Given the description of an element on the screen output the (x, y) to click on. 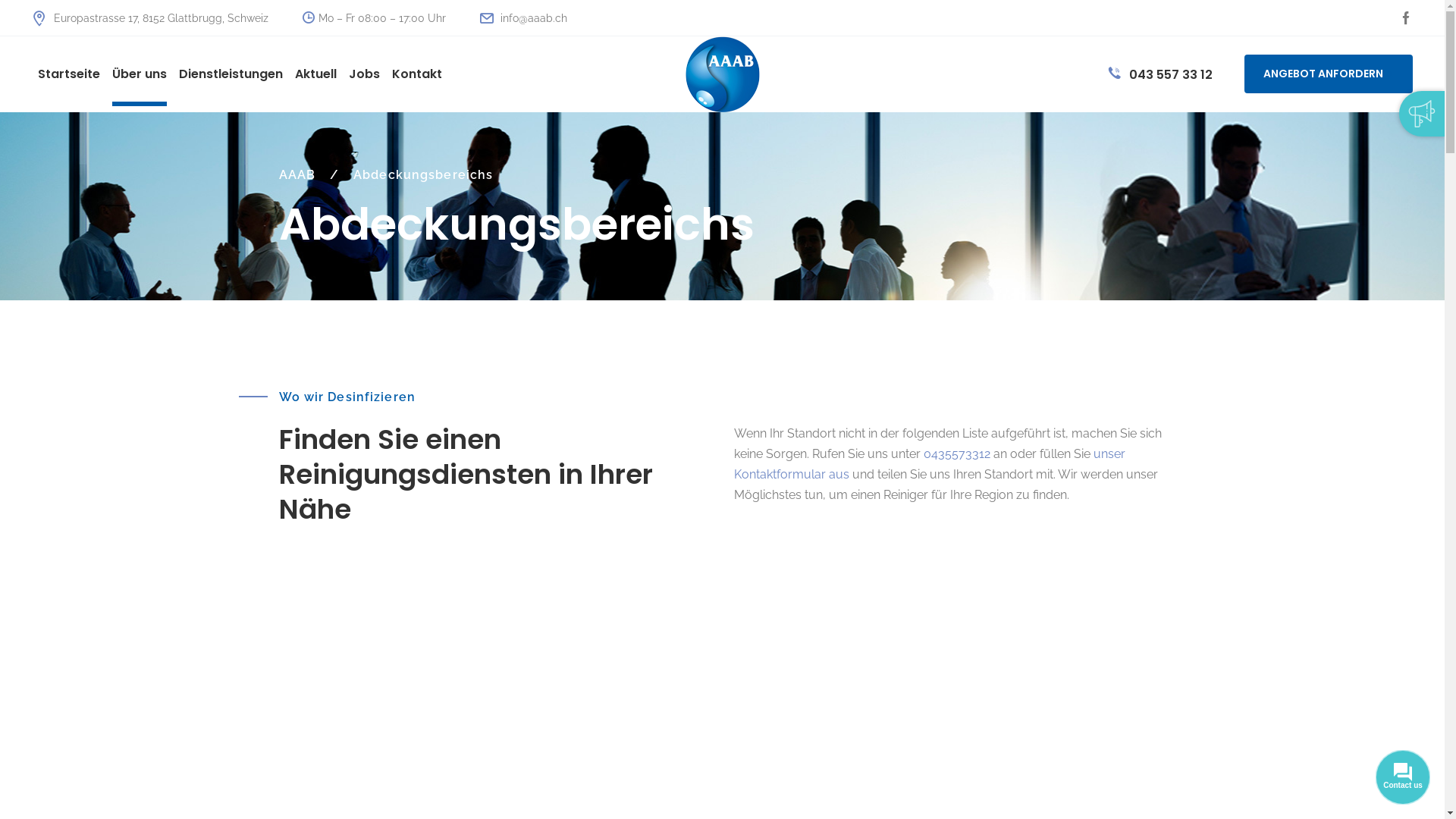
0435573312 Element type: text (956, 453)
Kontakt Element type: text (416, 73)
Dienstleistungen Element type: text (230, 73)
info@aaab.ch Element type: text (523, 18)
Open/Close Panel Element type: hover (1421, 113)
AAAB Element type: text (297, 173)
Jobs Element type: text (363, 73)
Aktuell Element type: text (315, 73)
Startseite Element type: text (68, 73)
unser Kontaktformular aus Element type: text (929, 463)
ANGEBOT ANFORDERN Element type: text (1328, 73)
043 557 33 12 Element type: text (1160, 73)
